Given the description of an element on the screen output the (x, y) to click on. 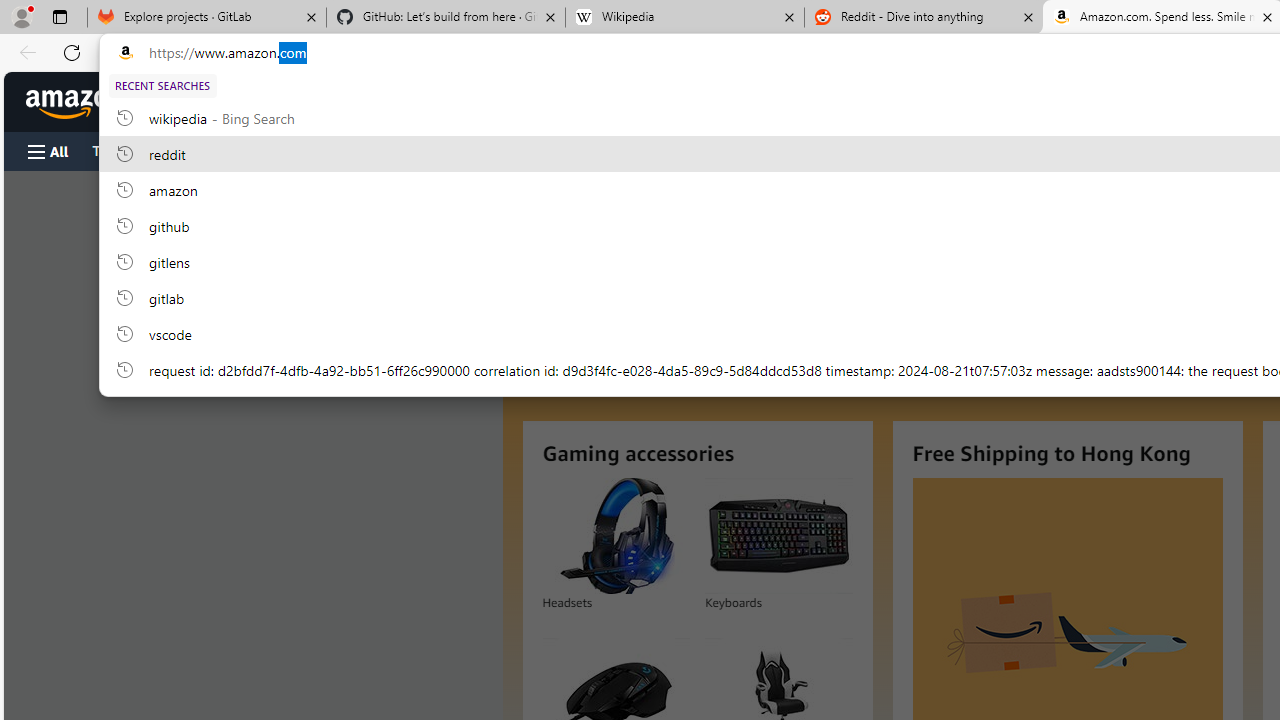
Headsets (615, 536)
Gift Cards (442, 150)
Sell (509, 150)
Tab actions menu (59, 16)
Keyboards (778, 536)
Wikipedia (684, 17)
Close tab (1267, 16)
Deliver to Hong Kong (193, 101)
